Given the description of an element on the screen output the (x, y) to click on. 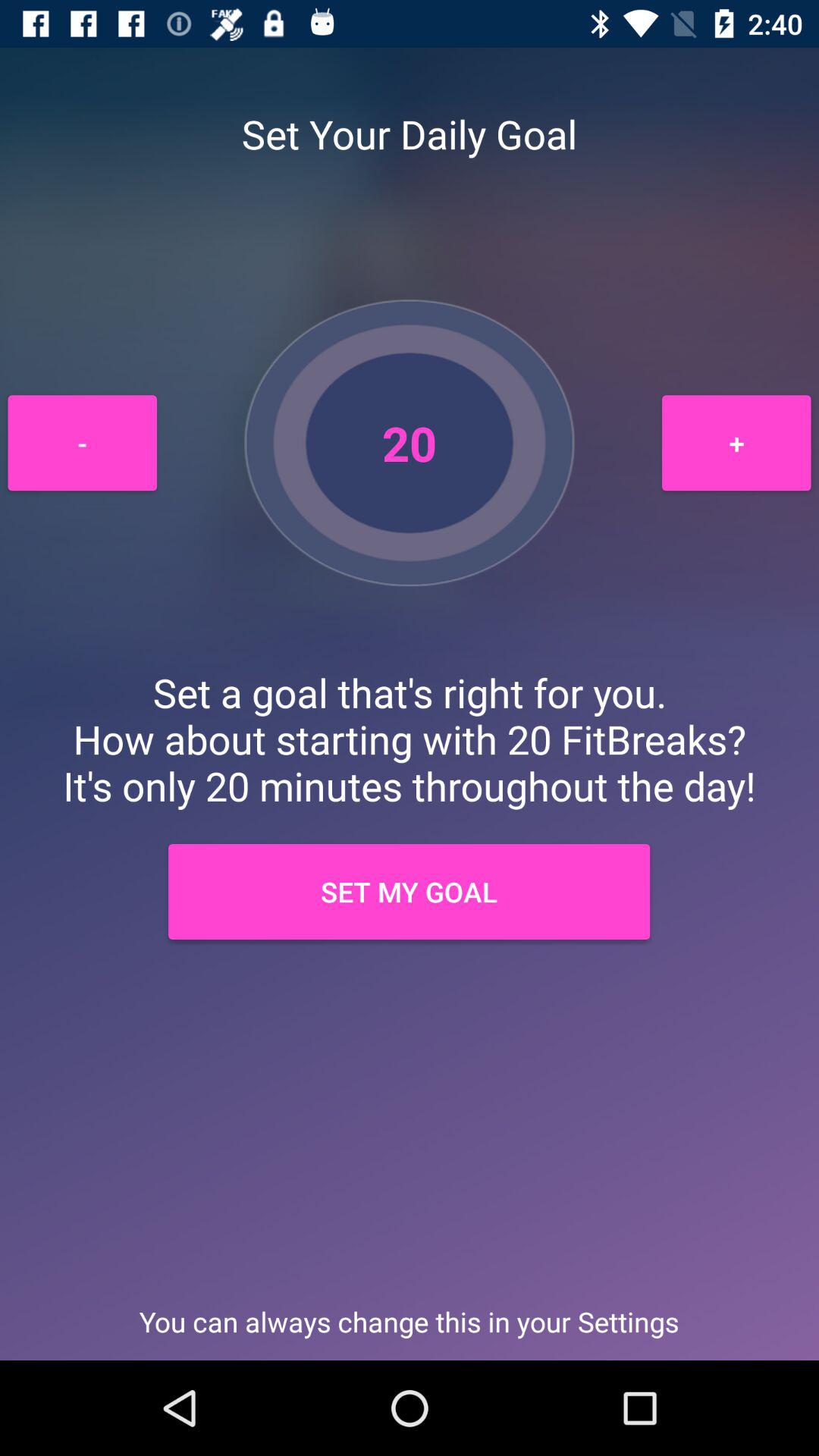
swipe to the - item (82, 442)
